Given the description of an element on the screen output the (x, y) to click on. 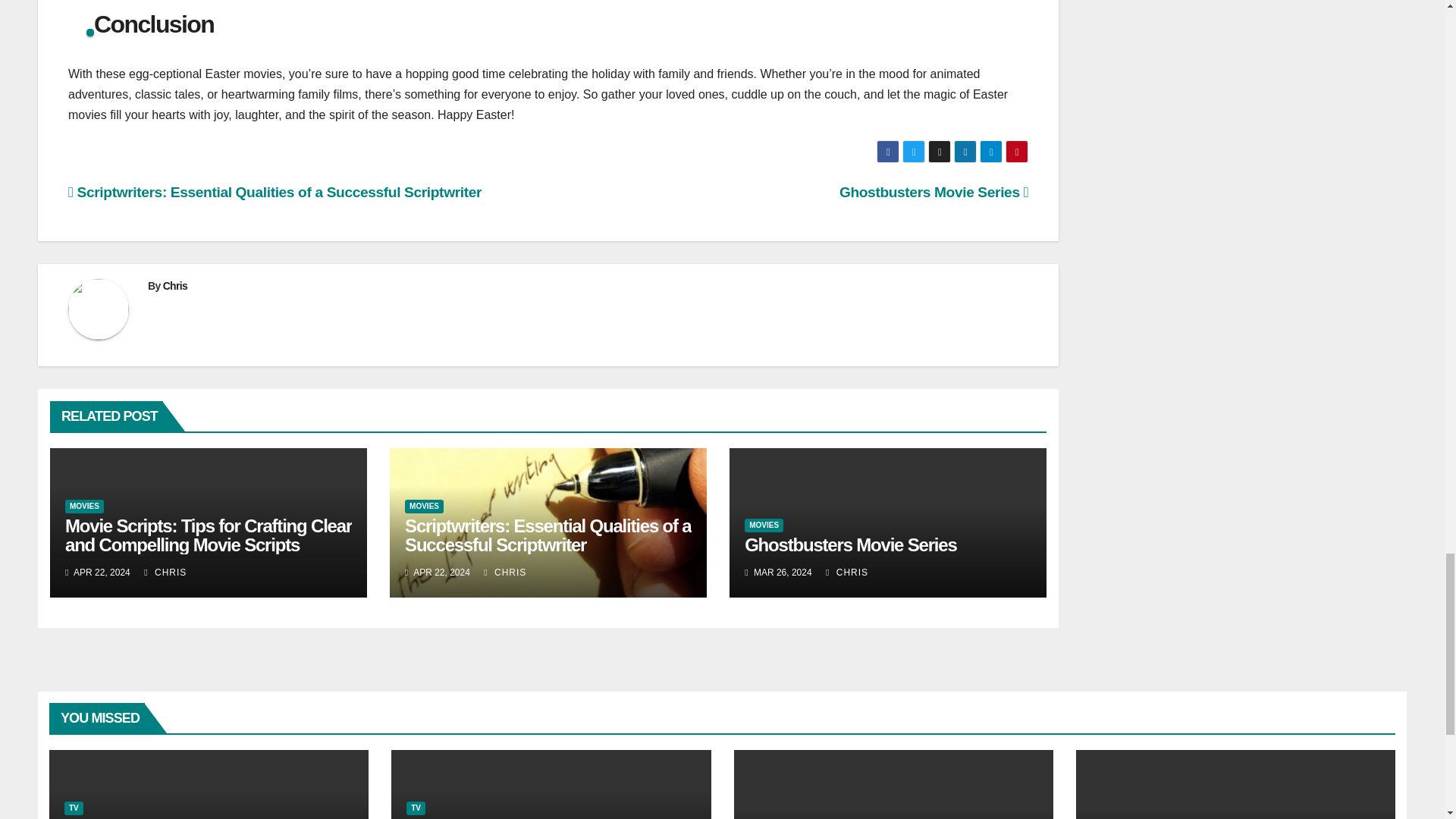
MOVIES (424, 506)
Chris (175, 285)
Ghostbusters Movie Series (933, 191)
Permalink to: Ghostbusters Movie Series (850, 544)
CHRIS (165, 572)
